Given the description of an element on the screen output the (x, y) to click on. 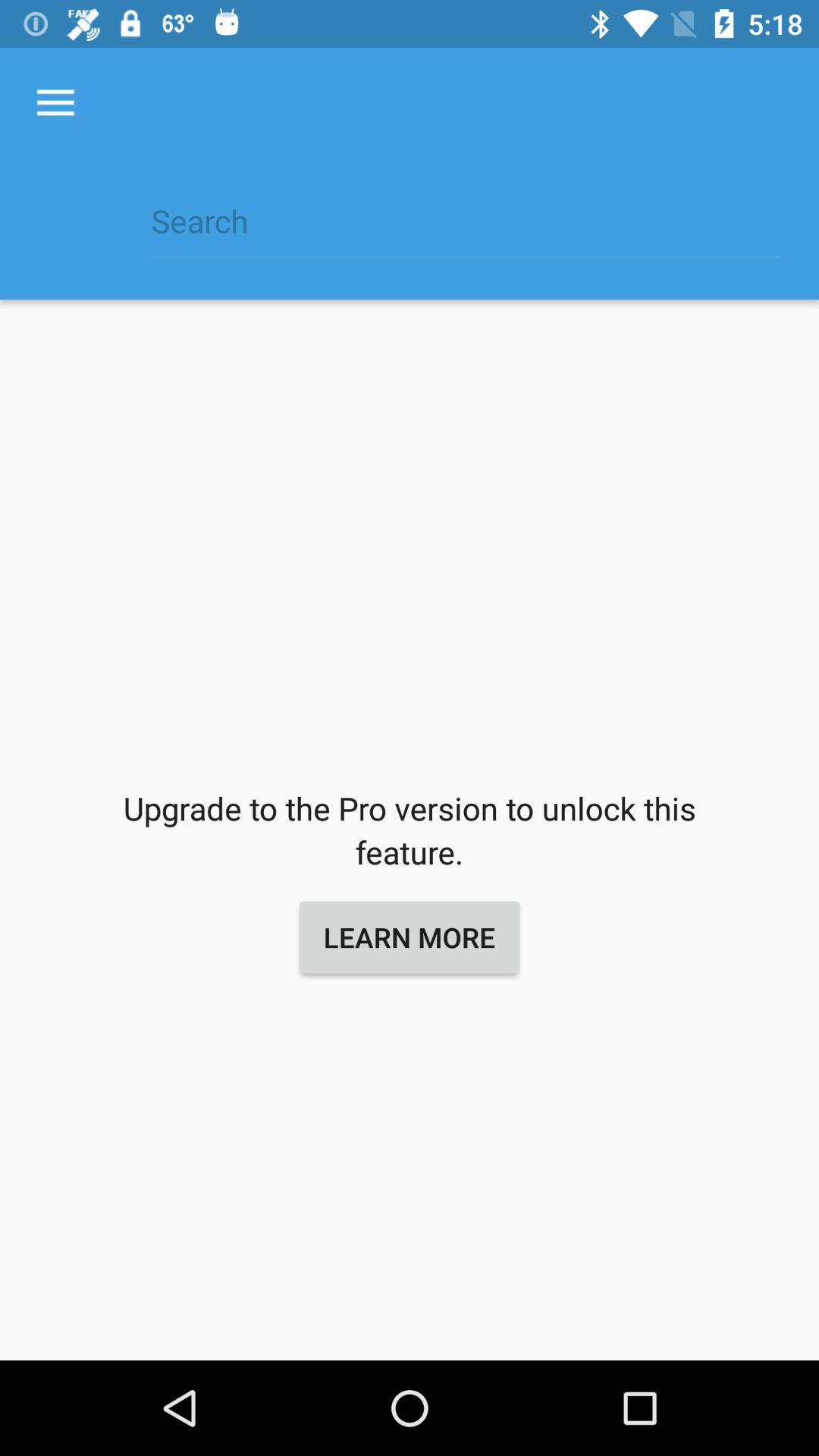
jump to the learn more icon (409, 937)
